Given the description of an element on the screen output the (x, y) to click on. 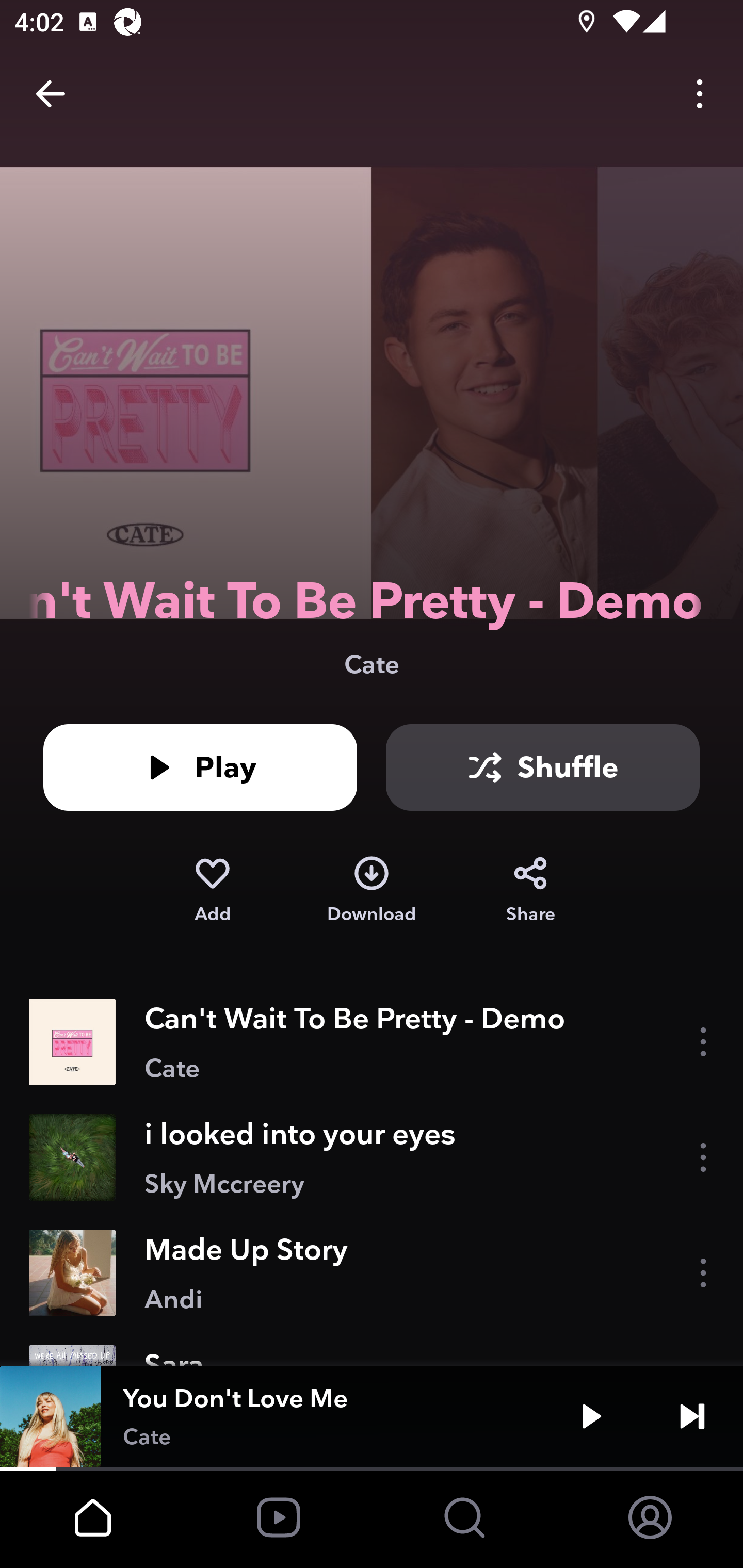
Options (699, 93)
Play (200, 767)
Shuffle (542, 767)
Add (211, 890)
Download (371, 890)
Share (530, 890)
Can't Wait To Be Pretty - Demo Cate (371, 1041)
i looked into your eyes Sky Mccreery (371, 1157)
Made Up Story Andi (371, 1273)
You Don't Love Me Cate Play (371, 1416)
Play (590, 1416)
